Given the description of an element on the screen output the (x, y) to click on. 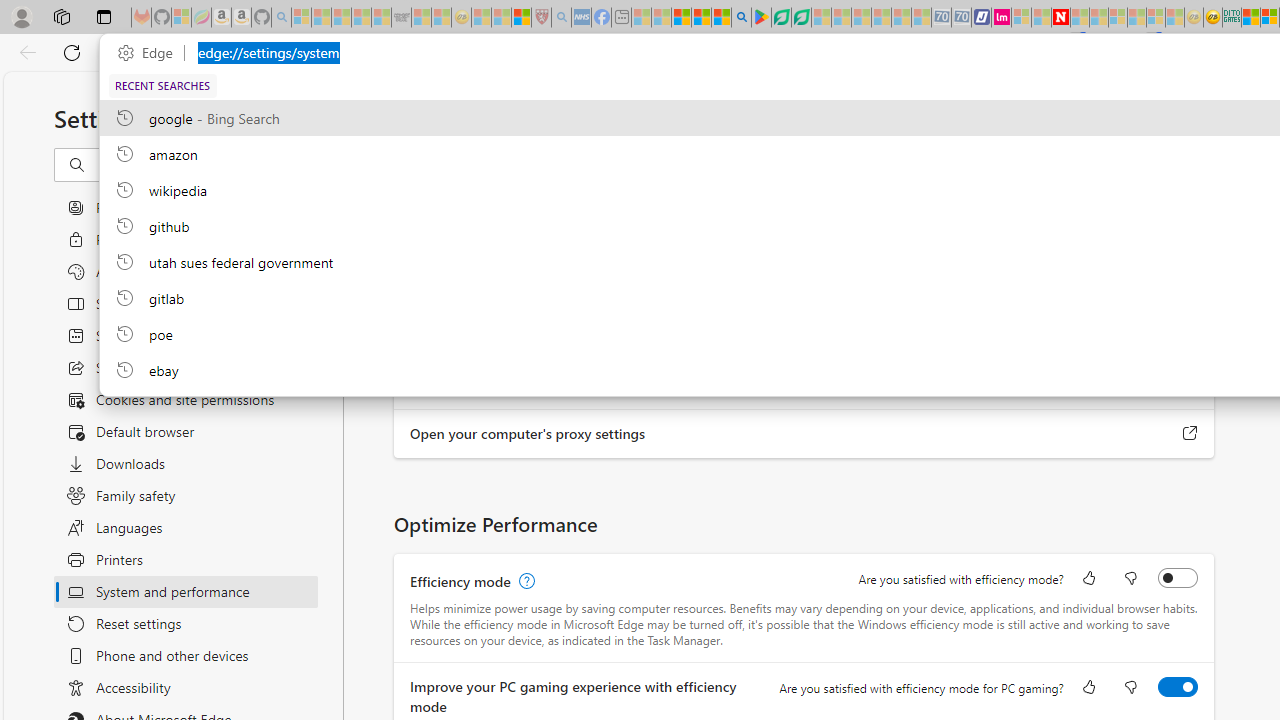
Learn more (995, 200)
Startup boost (1178, 174)
